Given the description of an element on the screen output the (x, y) to click on. 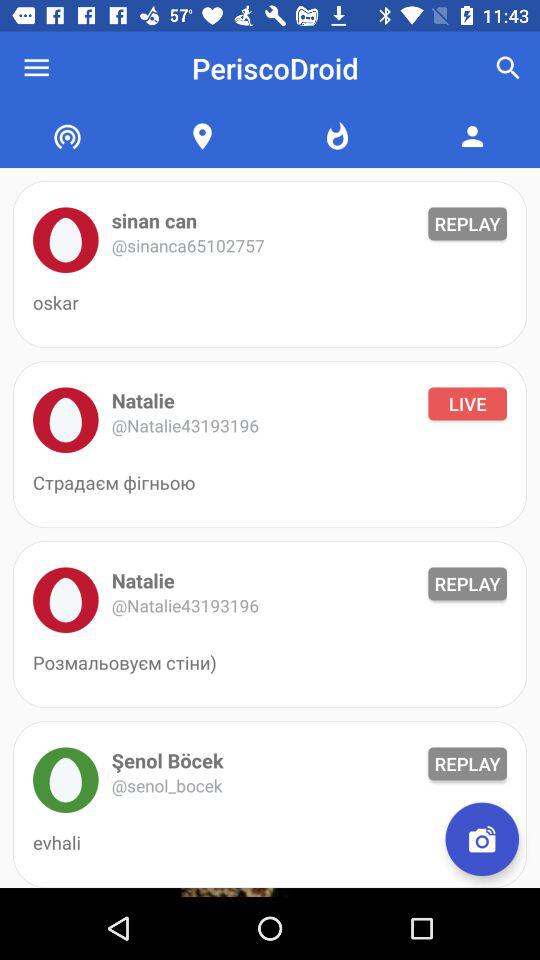
open app page (65, 780)
